Given the description of an element on the screen output the (x, y) to click on. 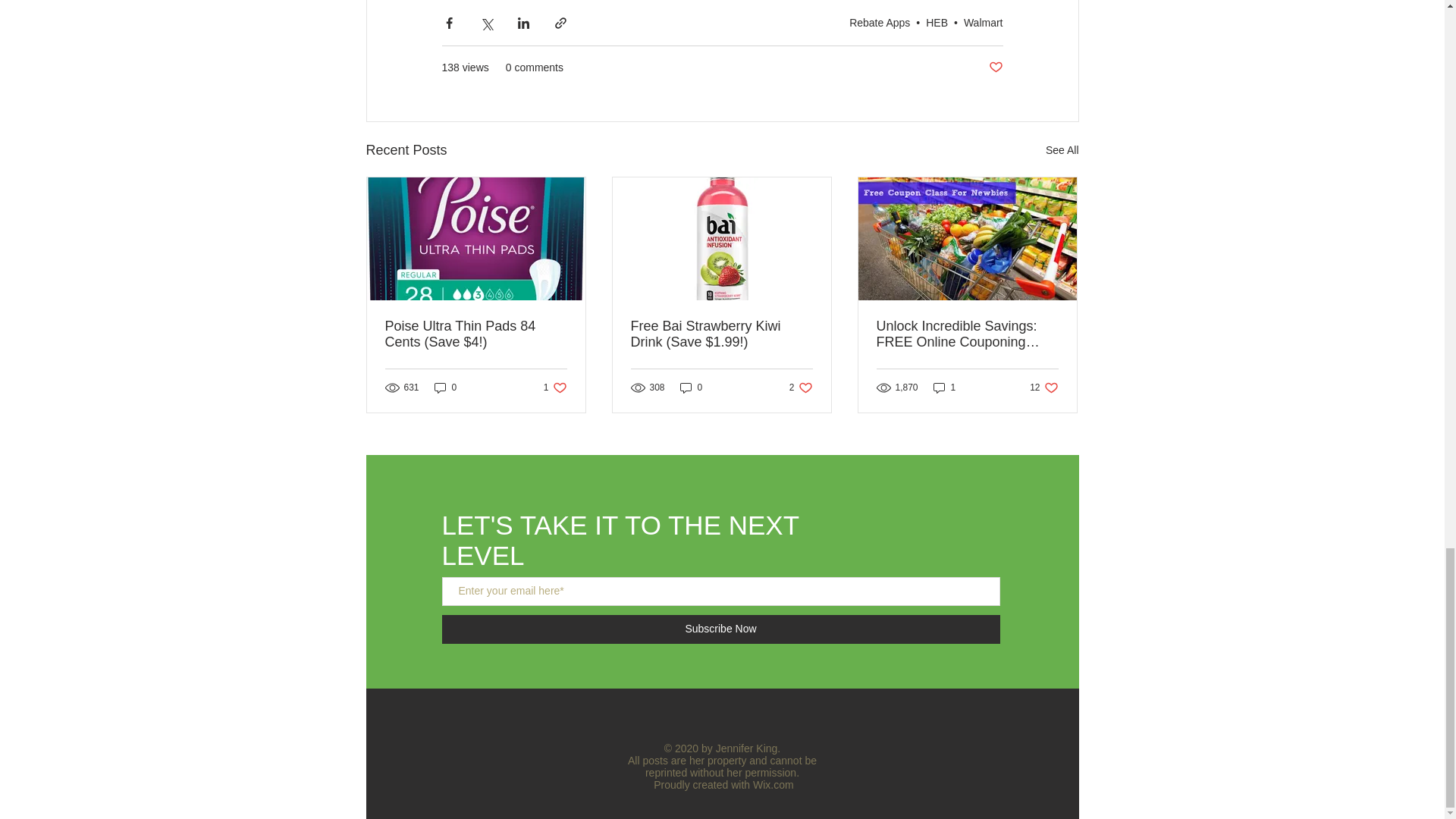
Walmart (983, 21)
HEB (936, 21)
Rebate Apps (879, 21)
0 (445, 386)
See All (1061, 150)
Post not marked as liked (995, 67)
